Given the description of an element on the screen output the (x, y) to click on. 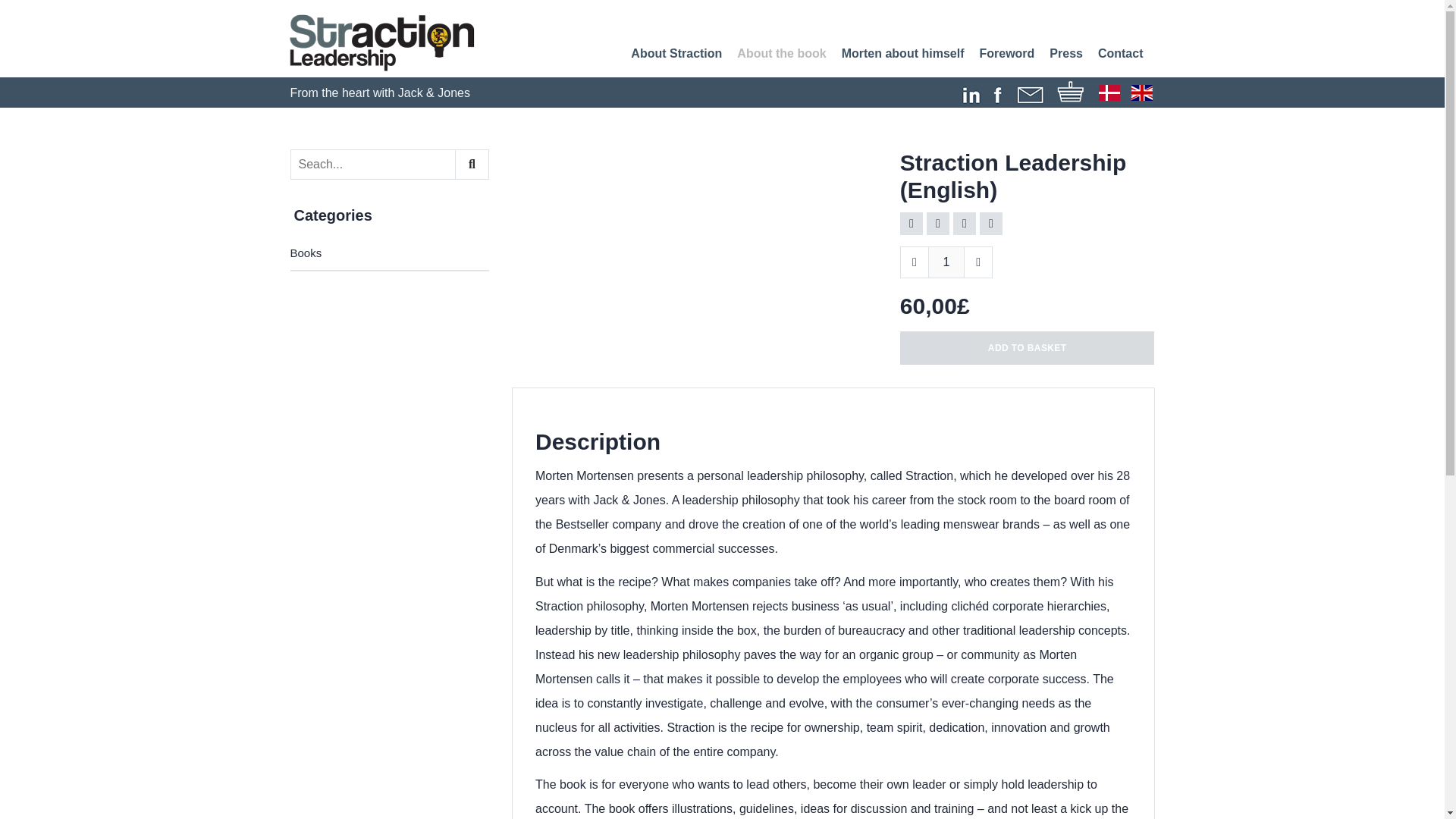
About Straction (676, 54)
Books (389, 253)
Foreword (1005, 54)
Amount (945, 262)
ADD TO BASKET (1026, 346)
Contact (1119, 54)
Morten about himself (902, 54)
About the book (780, 53)
1 (945, 262)
Press (1066, 54)
